Given the description of an element on the screen output the (x, y) to click on. 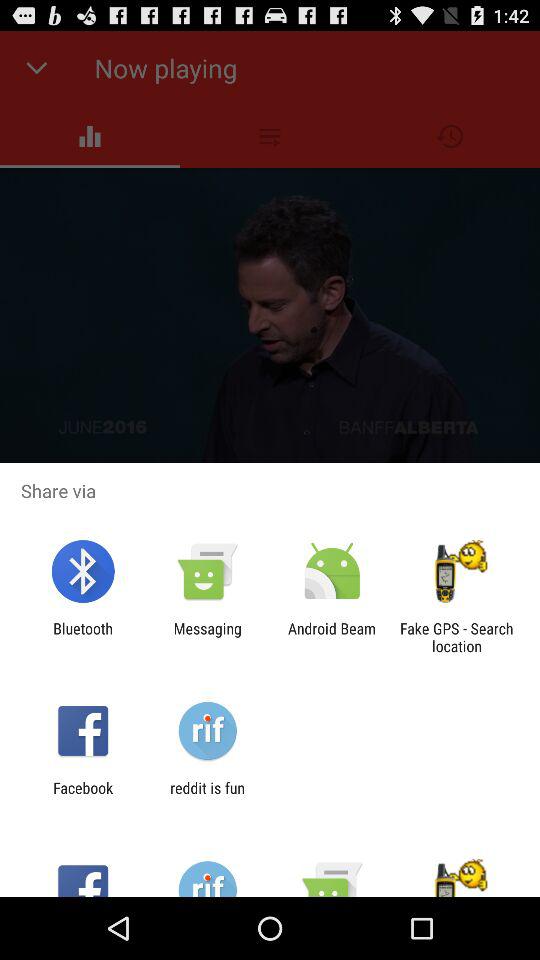
turn on app next to facebook (207, 796)
